Given the description of an element on the screen output the (x, y) to click on. 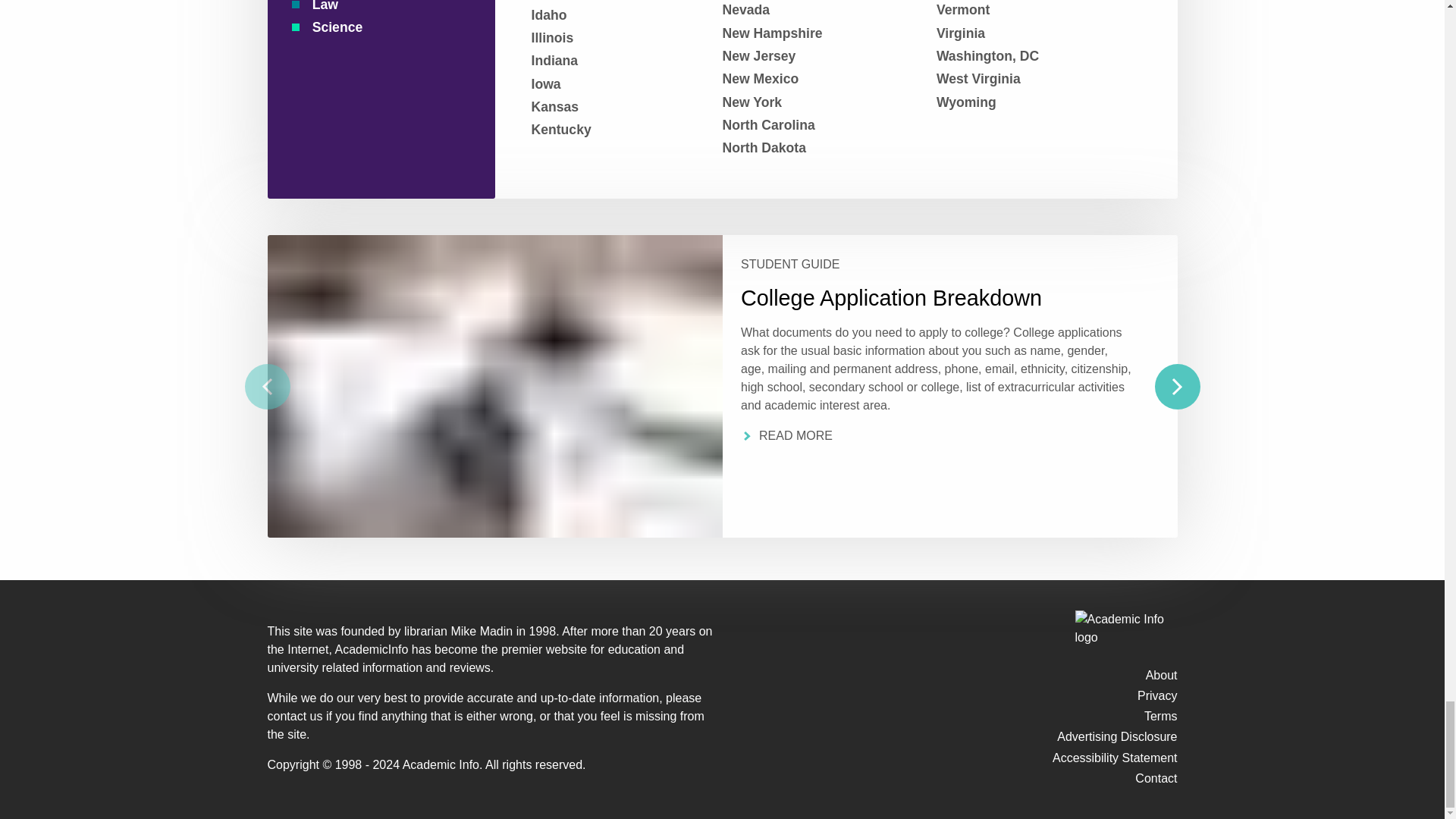
Student Guide (935, 264)
Law (374, 6)
Science (374, 27)
